Given the description of an element on the screen output the (x, y) to click on. 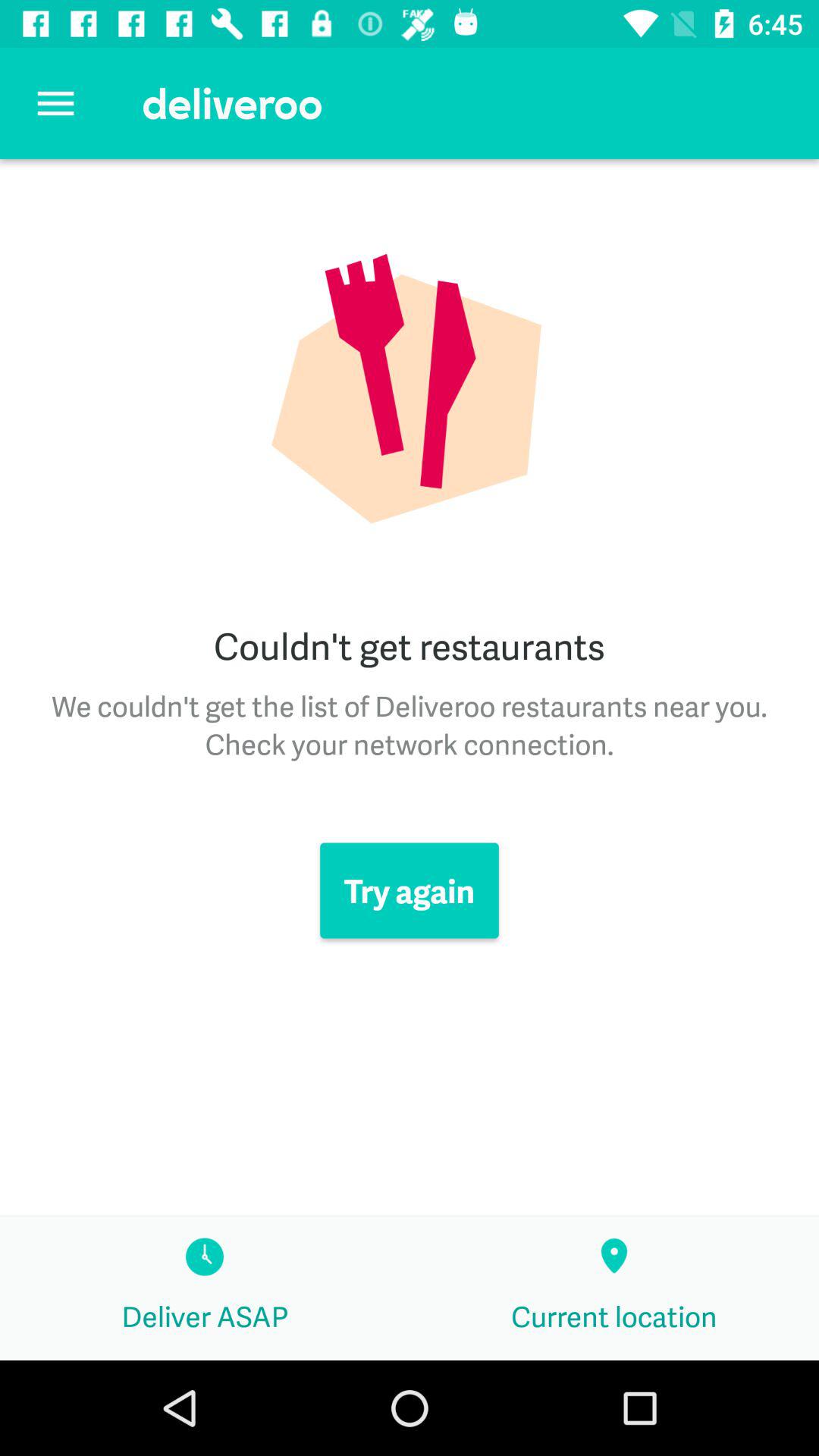
choose icon to the right of deliver asap item (614, 1288)
